Given the description of an element on the screen output the (x, y) to click on. 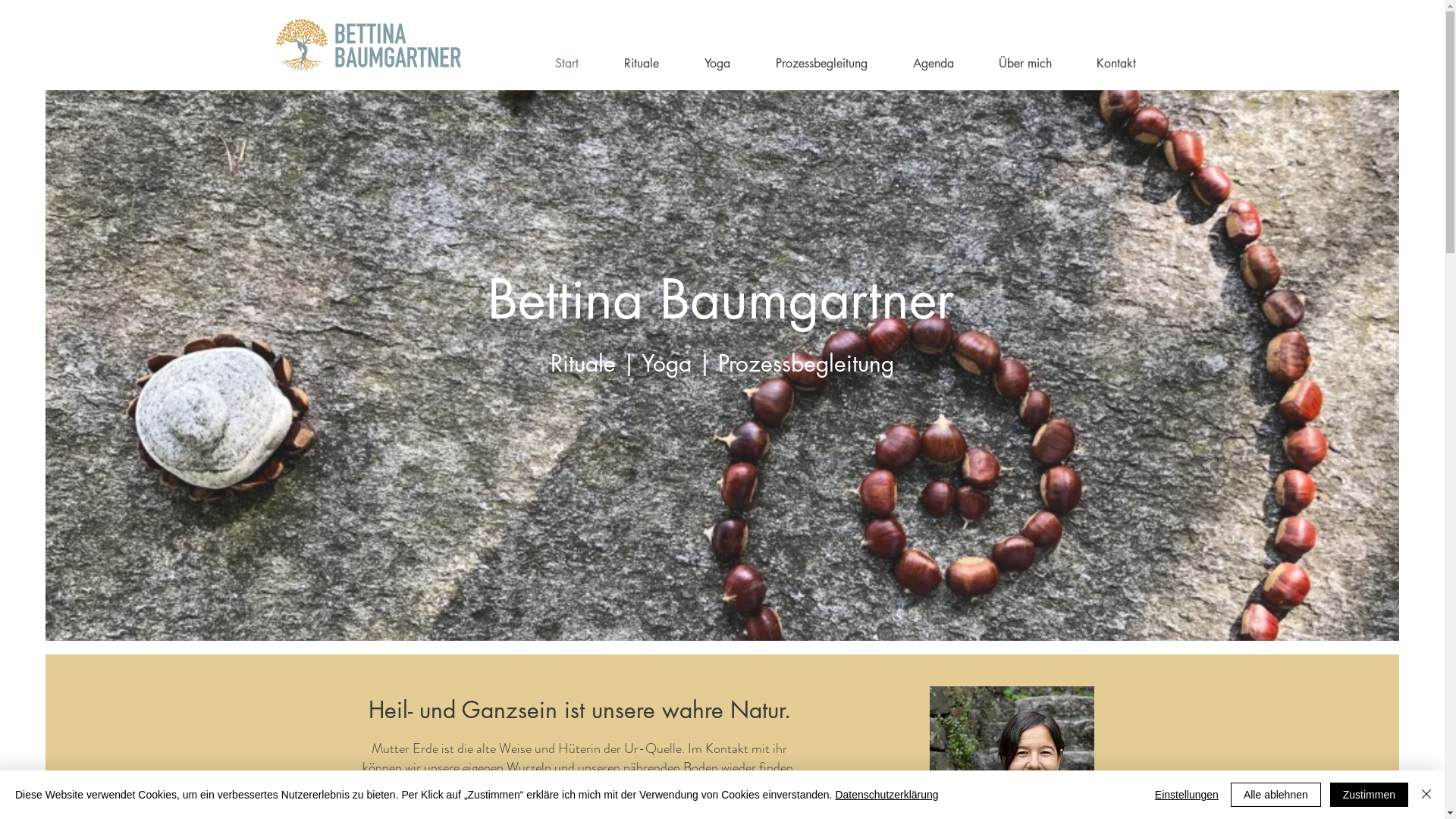
Kontakt Element type: text (1105, 63)
Start Element type: text (554, 63)
Alle ablehnen Element type: text (1275, 794)
Zustimmen Element type: text (1369, 794)
Yoga Element type: text (705, 63)
Prozessbegleitung Element type: text (809, 63)
Rituale Element type: text (629, 63)
Agenda Element type: text (921, 63)
